Given the description of an element on the screen output the (x, y) to click on. 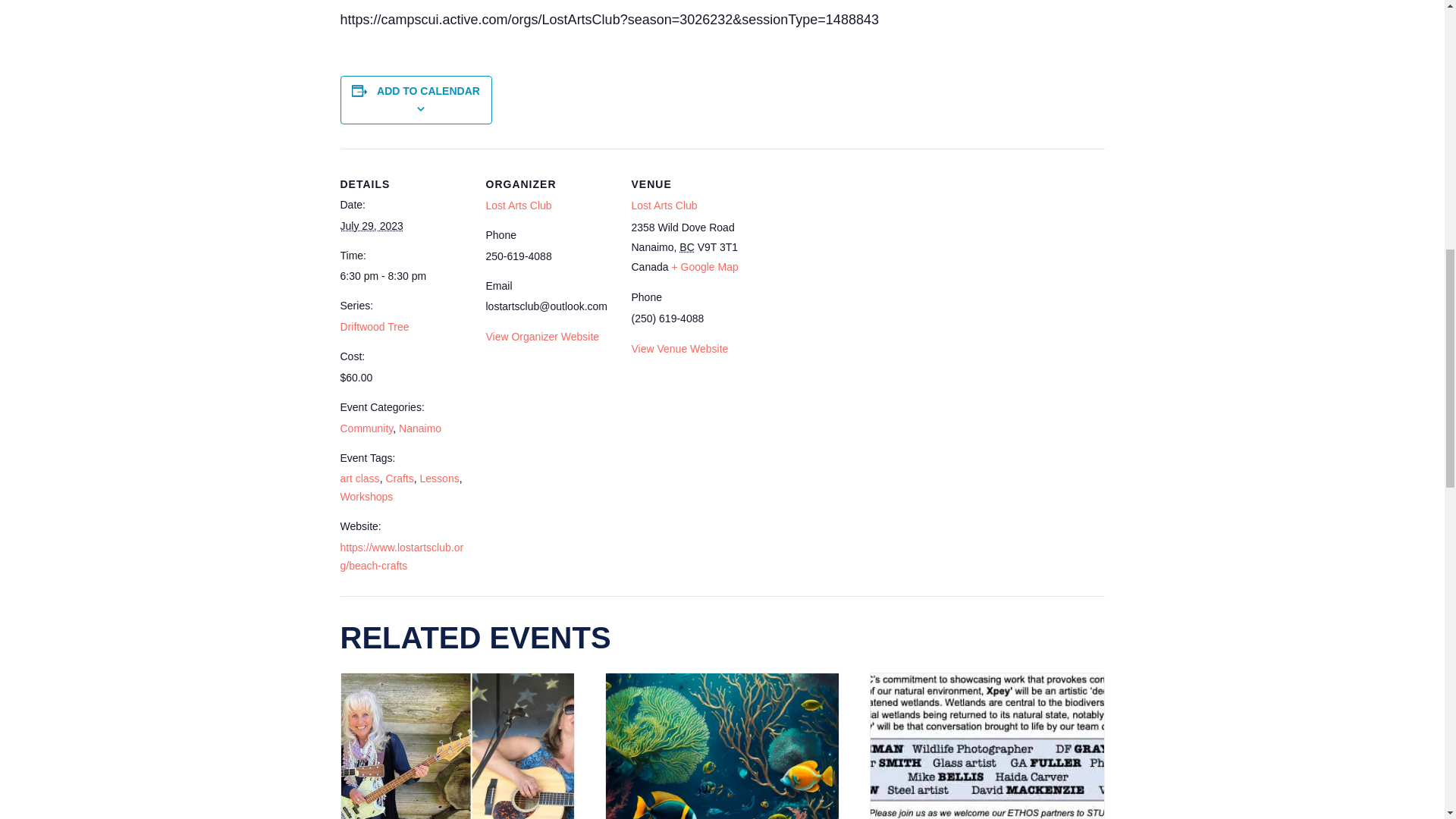
BC (686, 246)
Lost Arts Club (517, 205)
Click to view a Google Map (704, 266)
2023-07-29 (371, 225)
Driftwood Tree (374, 326)
ADD TO CALENDAR (428, 90)
Driftwood Tree (374, 326)
2023-07-29 (403, 275)
